Given the description of an element on the screen output the (x, y) to click on. 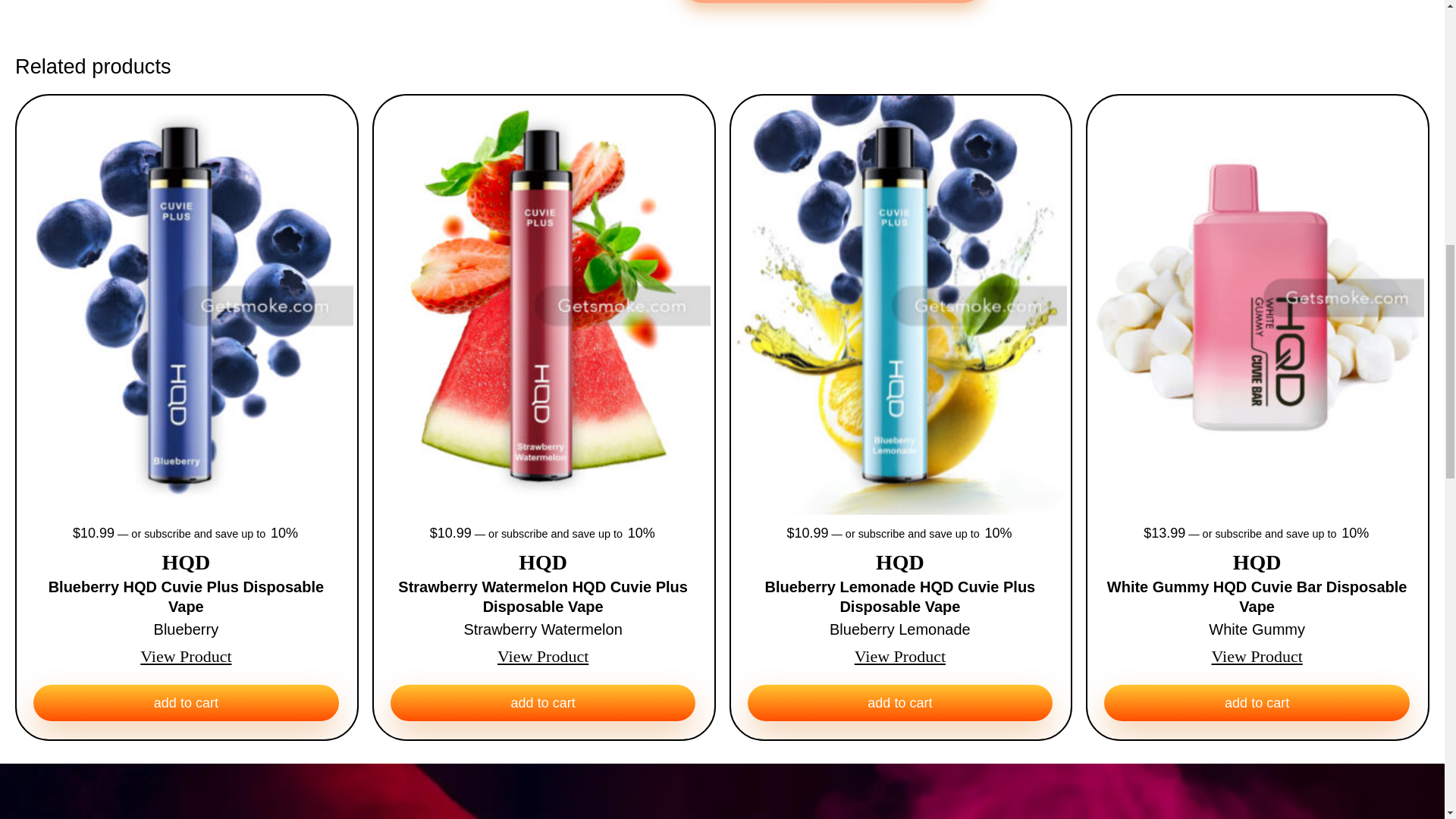
add to cart (542, 702)
White Gummy HQD Cuvie Bar Disposable Vape (1256, 597)
Blueberry Lemonade HQD Cuvie Plus Disposable Vape (900, 597)
Strawberry Watermelon HQD Cuvie Plus Disposable Vape (542, 597)
add to cart (185, 702)
add to cart (900, 702)
View Product (542, 656)
Blueberry HQD Cuvie Plus Disposable Vape (185, 597)
View Product (185, 656)
View Product (899, 656)
